Given the description of an element on the screen output the (x, y) to click on. 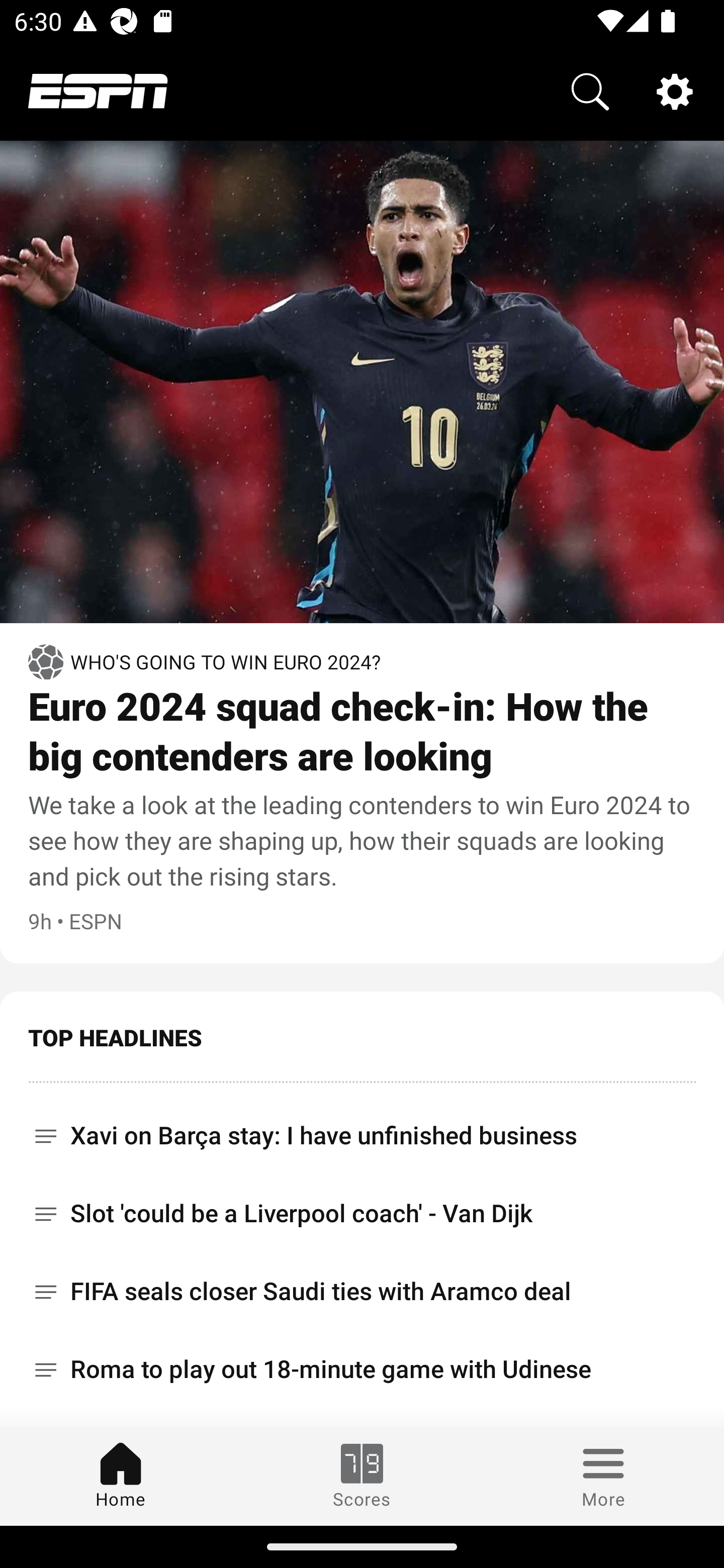
Search (590, 90)
Settings (674, 90)
 Xavi on Barça stay: I have unfinished business (362, 1128)
 Slot 'could be a Liverpool coach' - Van Dijk (362, 1213)
 FIFA seals closer Saudi ties with Aramco deal (362, 1291)
 Roma to play out 18-minute game with Udinese (362, 1369)
Scores (361, 1475)
More (603, 1475)
